Given the description of an element on the screen output the (x, y) to click on. 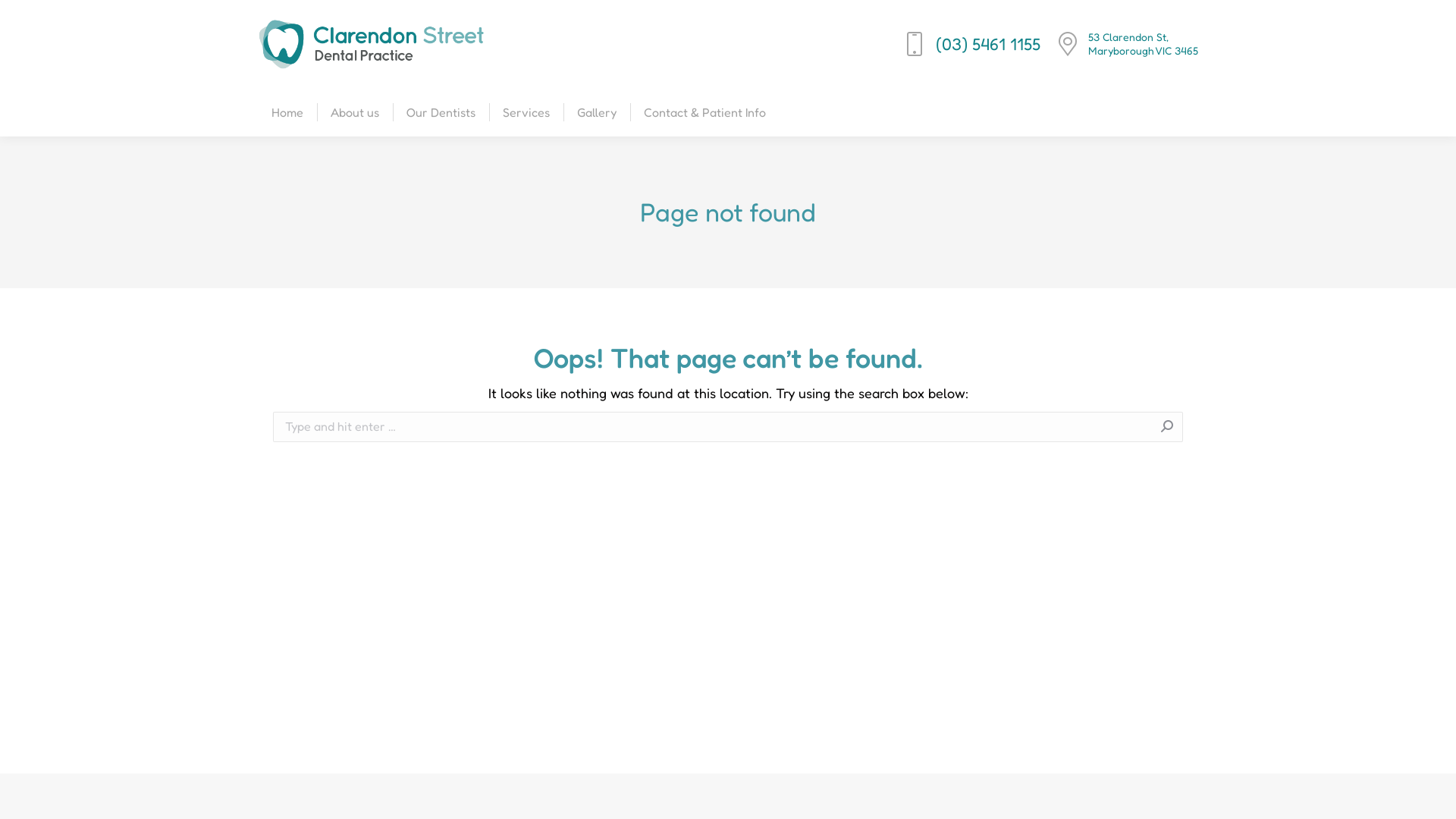
Contact & Patient Info Element type: text (704, 111)
Home Element type: text (287, 111)
Gallery Element type: text (596, 111)
About us Element type: text (354, 111)
Go! Element type: text (1216, 428)
Services Element type: text (525, 111)
Our Dentists Element type: text (440, 111)
(03) 5461 1155 Element type: text (970, 43)
